Given the description of an element on the screen output the (x, y) to click on. 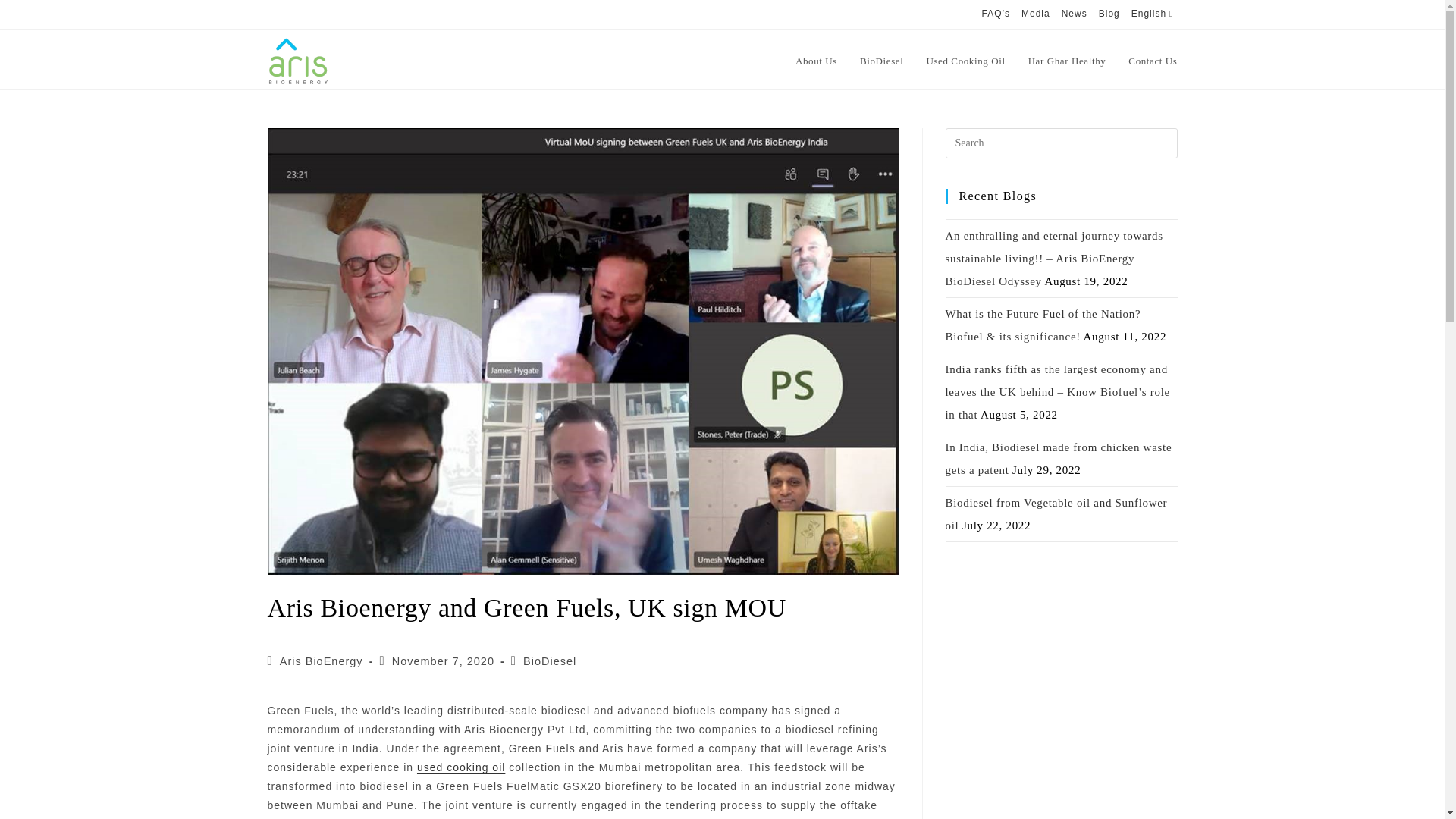
Blog (1109, 13)
used cooking oil (460, 767)
About Us (816, 61)
Har Ghar Healthy (1067, 61)
Media (1035, 13)
Aris BioEnergy (320, 661)
English (1154, 13)
News (1074, 13)
Used Cooking Oil (965, 61)
Posts by Aris BioEnergy (320, 661)
BioDiesel (549, 661)
Contact Us (1152, 61)
BioDiesel (881, 61)
